Given the description of an element on the screen output the (x, y) to click on. 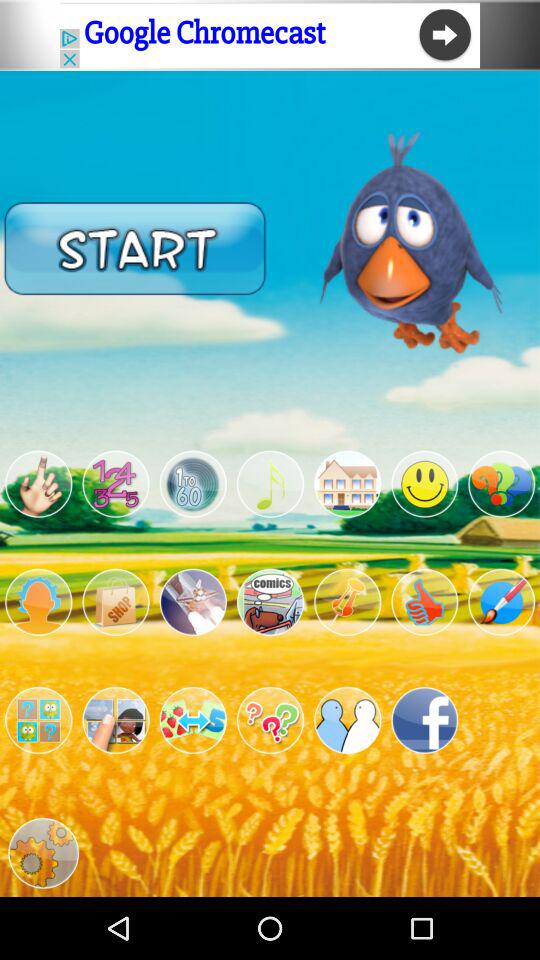
settings option (43, 853)
